Given the description of an element on the screen output the (x, y) to click on. 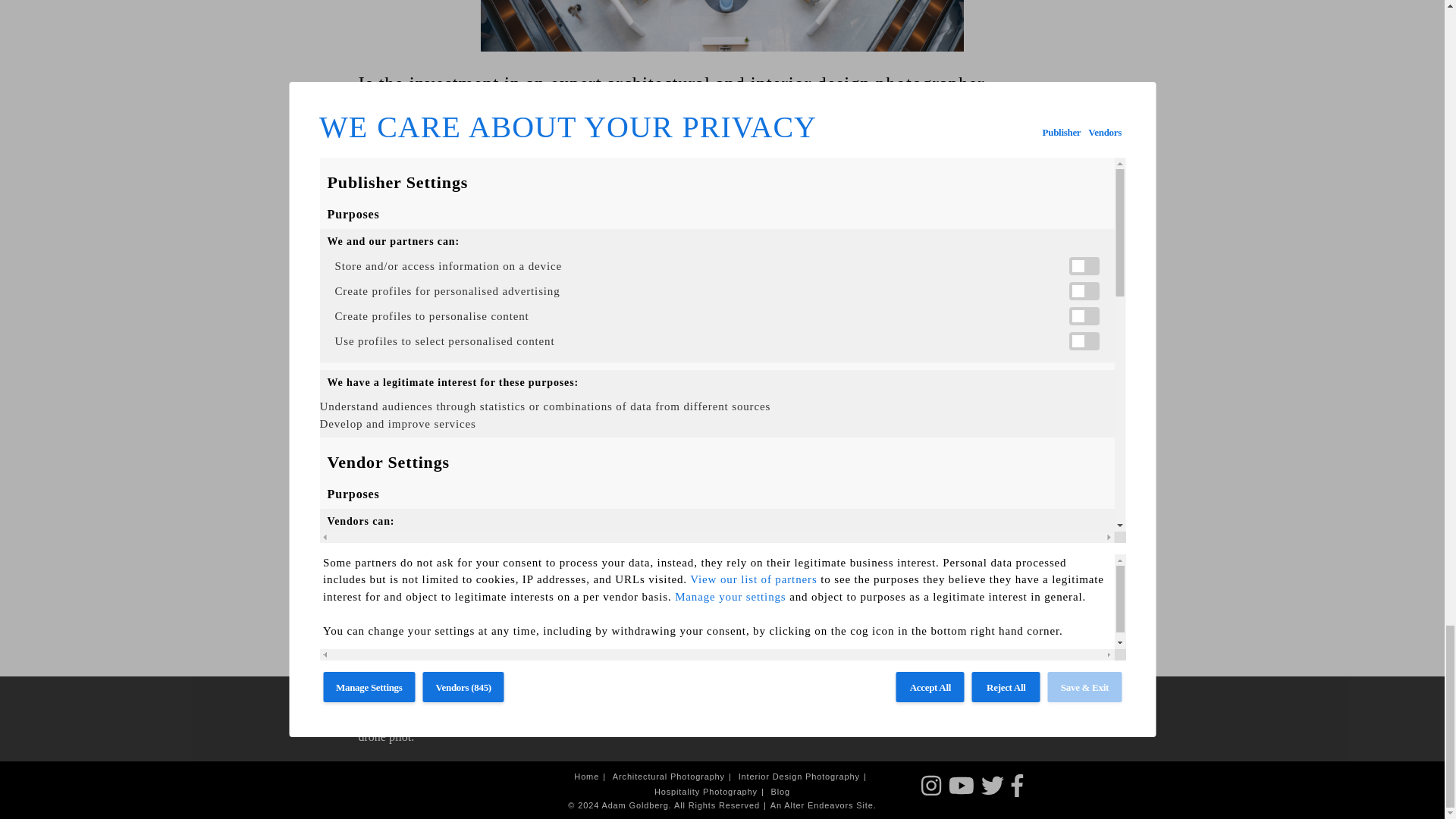
facebook (375, 624)
Hospitality Photography (710, 791)
Blog (780, 791)
twitter (446, 624)
Adam Goldberg Photography. (928, 545)
Alter Endeavors (818, 804)
linkedin (482, 624)
pinterest (411, 624)
CONTACT (1040, 705)
according to the AIA (418, 280)
here (742, 582)
Architectural Photography (673, 776)
Interior Design Photography (804, 776)
Home (591, 776)
